Given the description of an element on the screen output the (x, y) to click on. 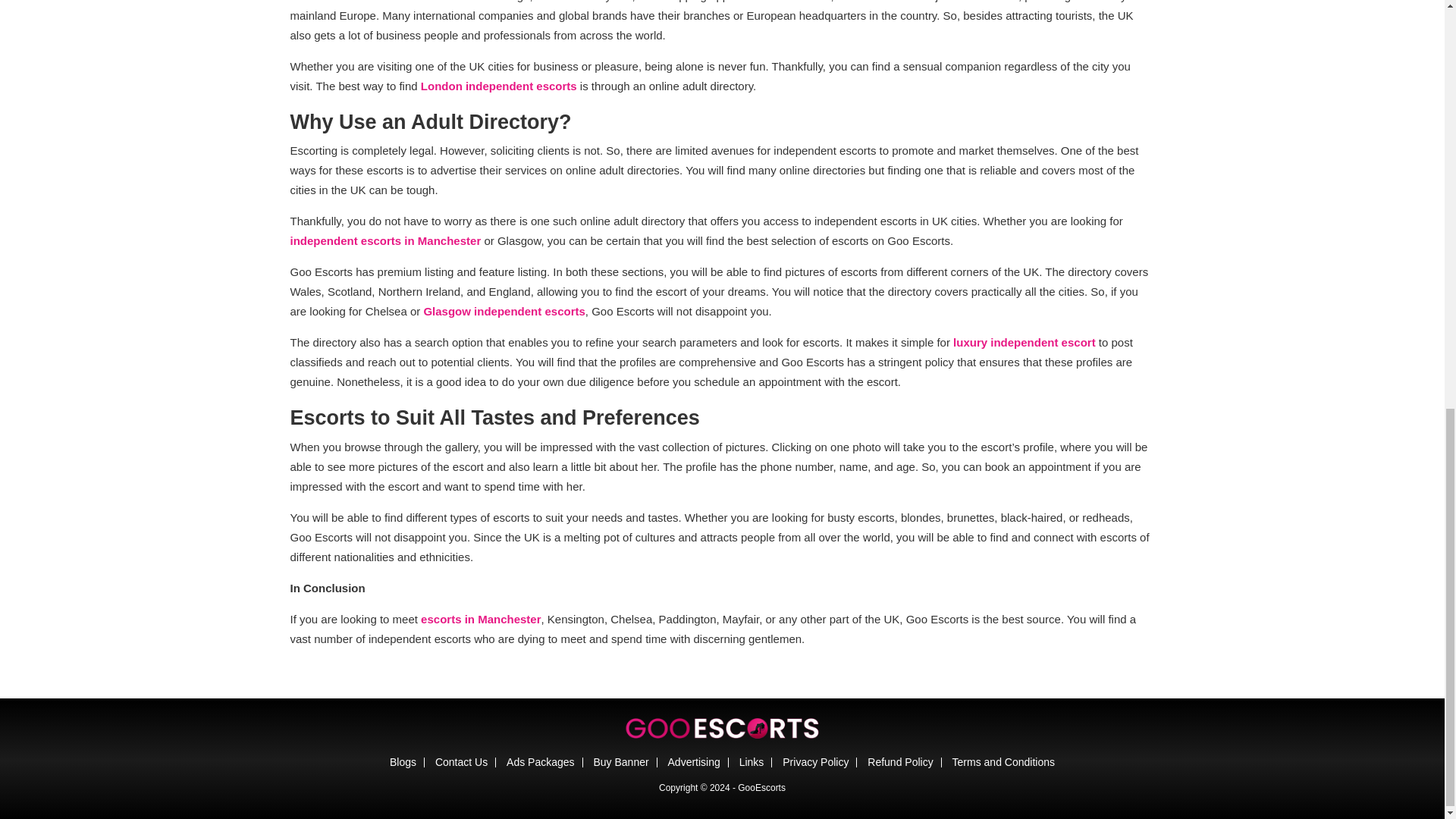
Glasgow independent escorts (504, 310)
Terms and Conditions (1003, 761)
Buy Banner (619, 761)
luxury independent escort (1024, 341)
Links (751, 761)
London independent escorts (498, 85)
Refund Policy (900, 761)
Advertising (694, 761)
International Escorts Directory (722, 727)
Blogs (403, 761)
